Given the description of an element on the screen output the (x, y) to click on. 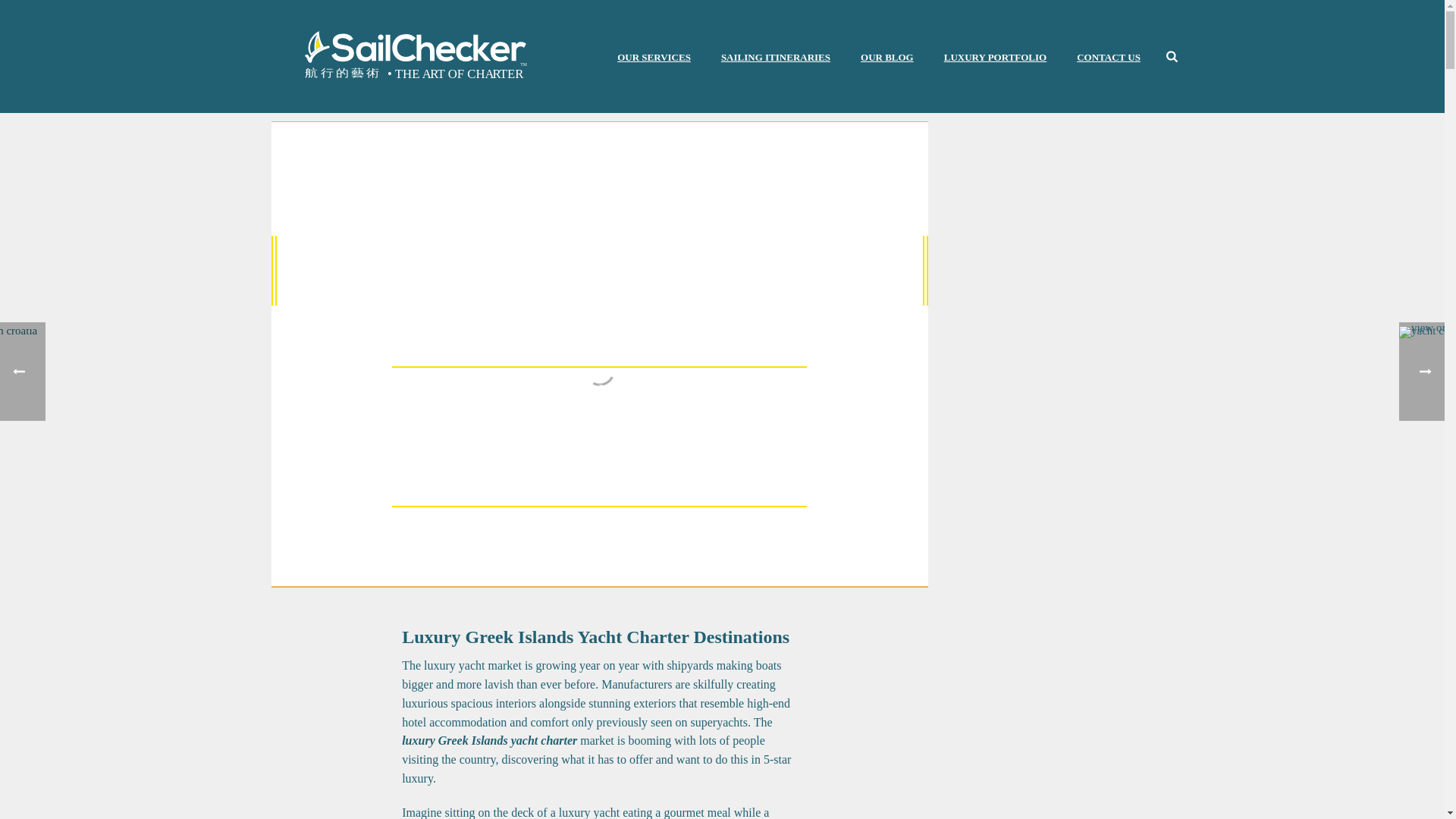
Creating Unique Sailing Memories Since 2011 (414, 55)
OUR SERVICES (654, 57)
OUR SERVICES (654, 57)
Ask About Chartering (598, 565)
SAILING ITINERARIES (775, 57)
LUXURY PORTFOLIO (994, 57)
CONTACT US (1108, 57)
OUR BLOG (886, 57)
